Given the description of an element on the screen output the (x, y) to click on. 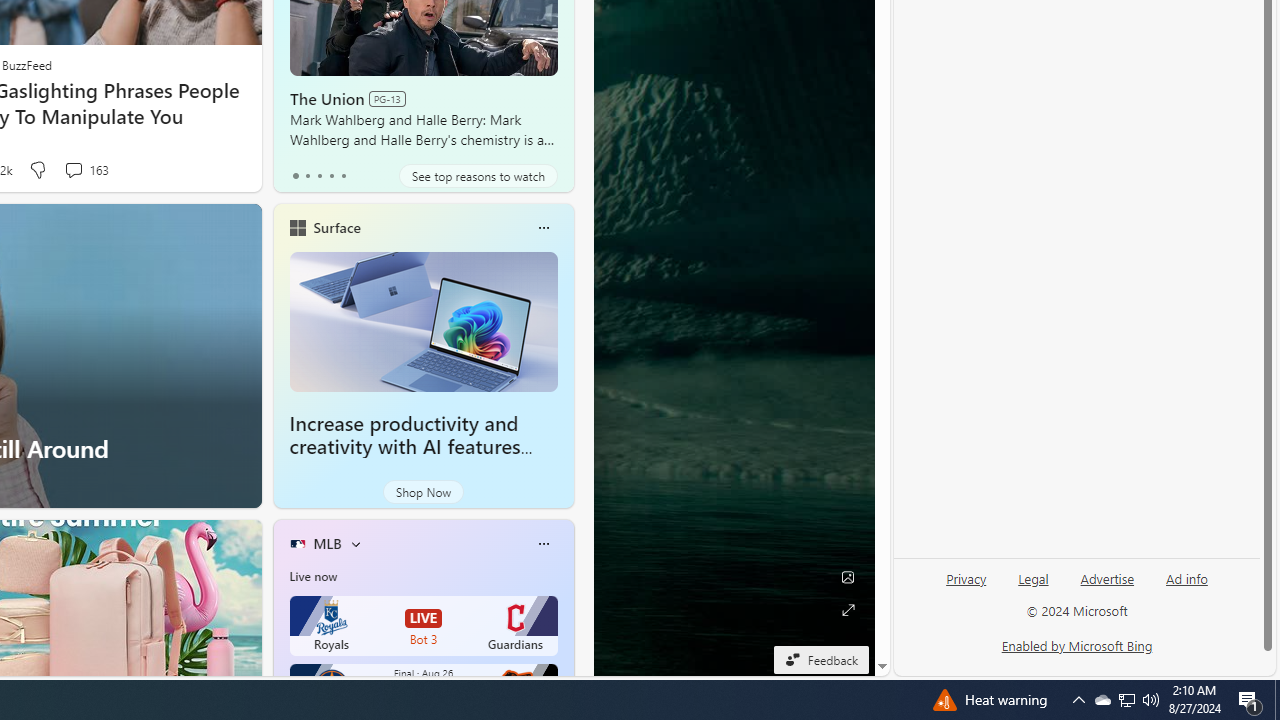
Surface (336, 227)
Legal (1033, 579)
Royals LIVE Bot 3 Guardians (423, 625)
tab-0 (295, 175)
Class: icon-img (543, 543)
Legal (1033, 587)
View comments 163 Comment (85, 170)
tab-2 (319, 175)
Ad info (1187, 579)
MLB (327, 543)
